Given the description of an element on the screen output the (x, y) to click on. 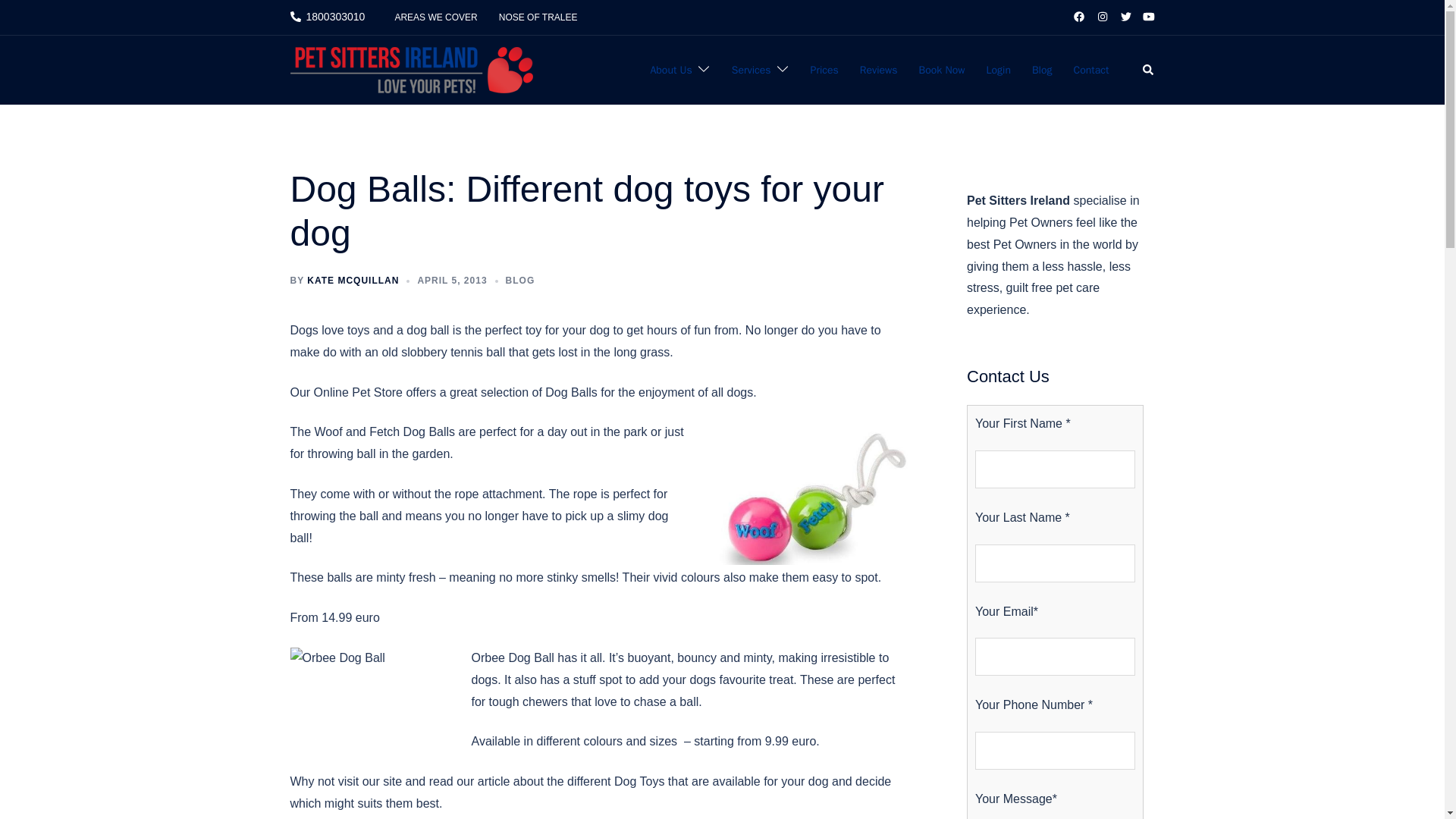
Prices (824, 69)
Login (997, 69)
Book Now (941, 69)
Blog (1042, 69)
AREAS WE COVER (435, 17)
1800303010 (327, 17)
Services (751, 69)
Contact (1091, 69)
Search (1147, 70)
NOSE OF TRALEE (538, 17)
About Us (670, 69)
Dog Ball (808, 492)
Reviews (879, 69)
Orbee Dog Ball (370, 694)
